Given the description of an element on the screen output the (x, y) to click on. 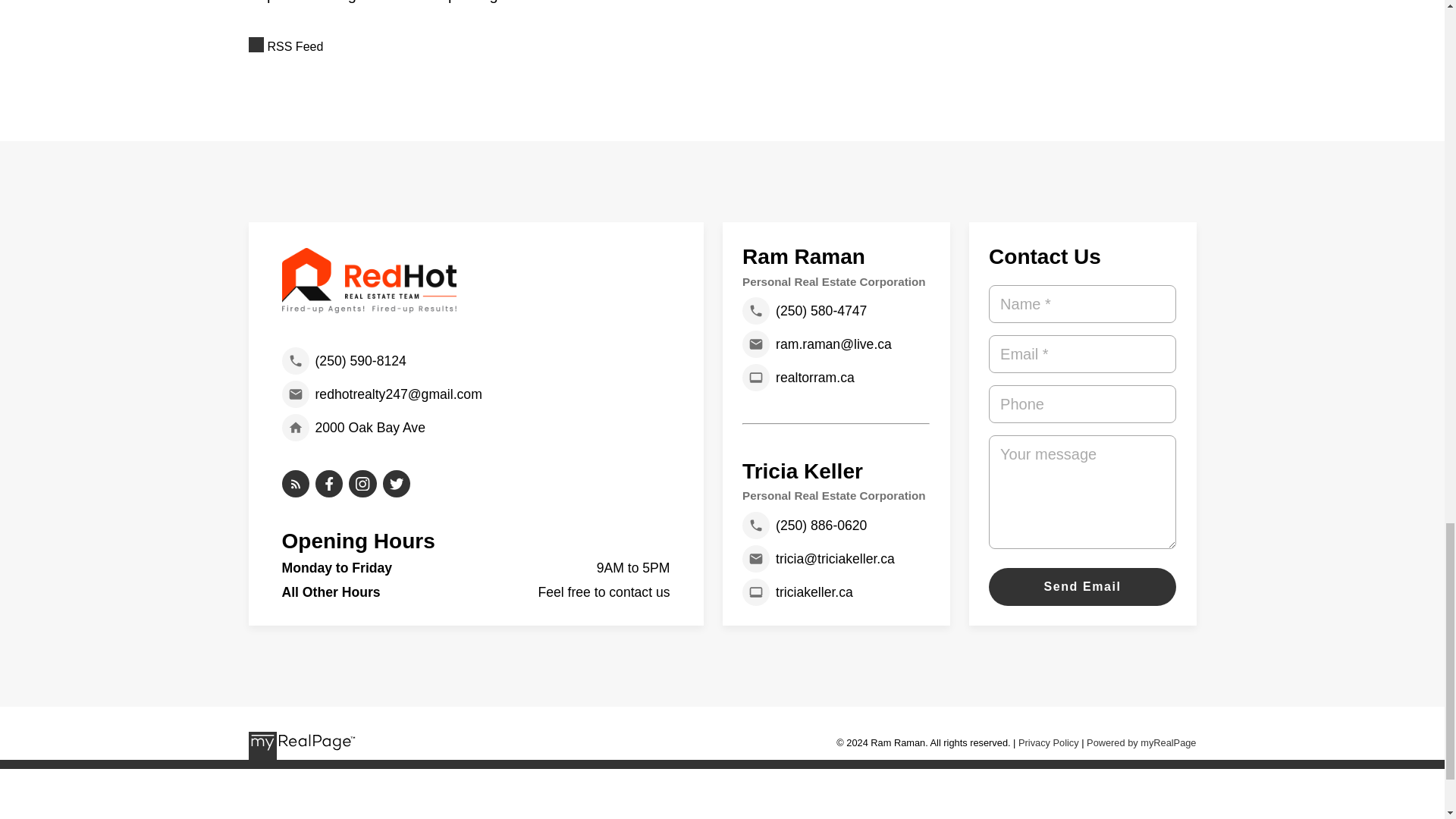
RSS (722, 46)
